Given the description of an element on the screen output the (x, y) to click on. 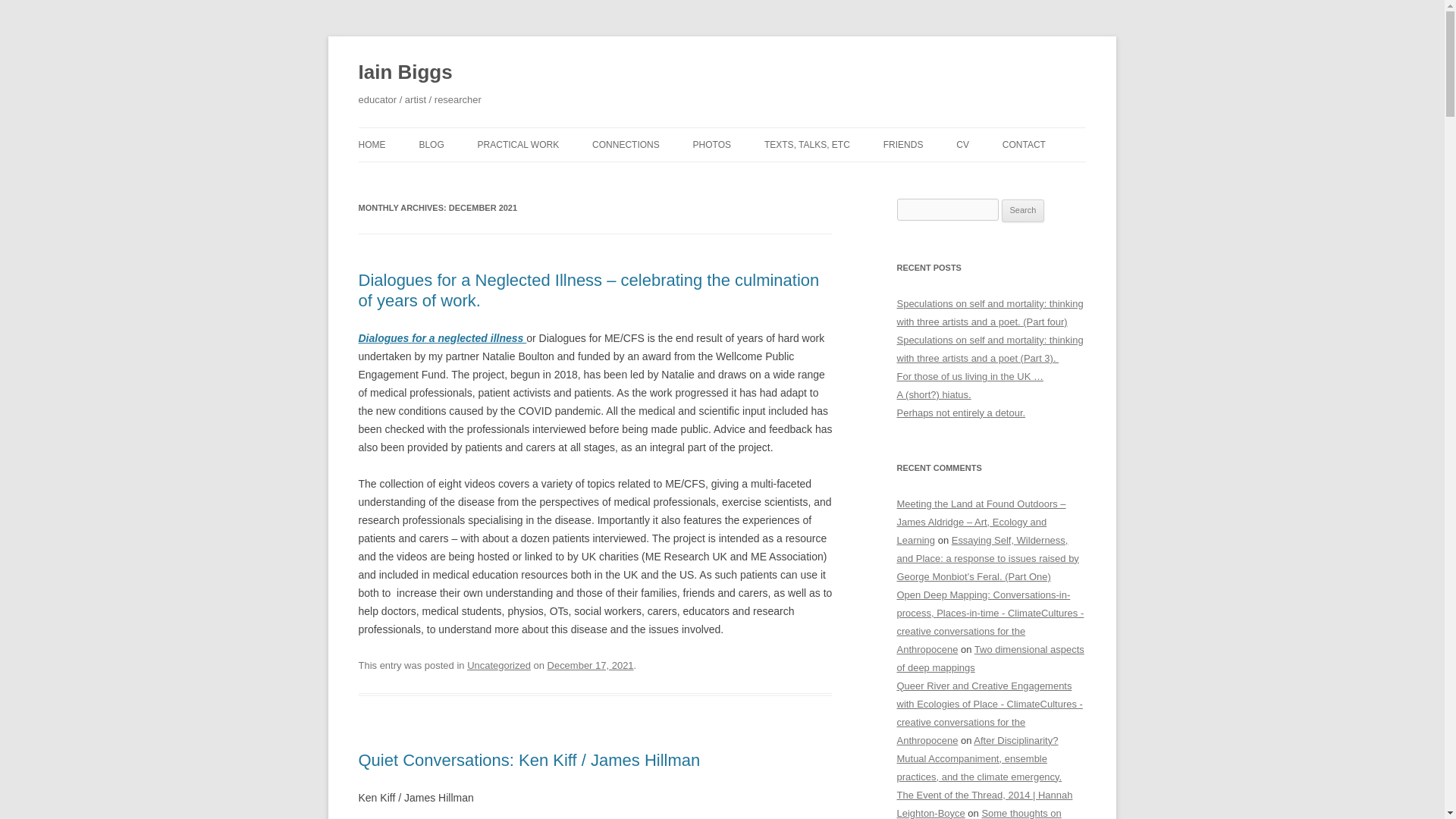
Uncategorized (499, 665)
TEXTS, TALKS, ETC (807, 144)
Iain Biggs (404, 72)
Dialogues for a neglected illness  (441, 337)
CV (962, 144)
FRIENDS (903, 144)
9:18 am (590, 665)
CONNECTIONS (625, 144)
BLOG (431, 144)
Search (1023, 210)
PRACTICAL WORK (518, 144)
HOME (371, 144)
PHOTOS (711, 144)
CONTACT (1024, 144)
